Given the description of an element on the screen output the (x, y) to click on. 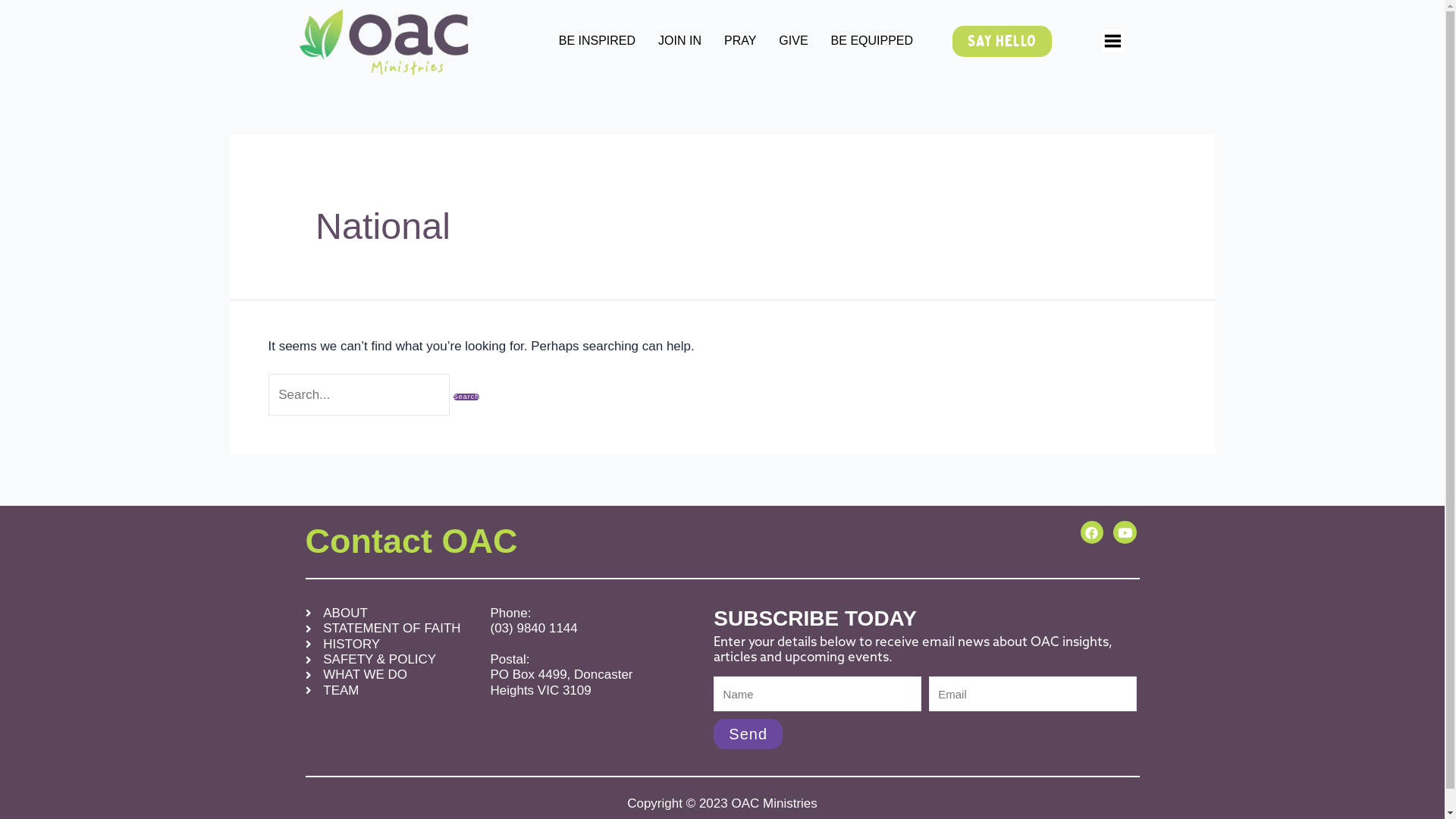
Youtube Element type: text (1124, 532)
ABOUT Element type: text (389, 613)
PRAY Element type: text (739, 40)
GIVE Element type: text (793, 40)
Search Element type: text (466, 396)
BE INSPIRED Element type: text (596, 40)
Facebook Element type: text (1092, 532)
SAFETY & POLICY Element type: text (389, 659)
WHAT WE DO Element type: text (389, 674)
JOIN IN Element type: text (679, 40)
HISTORY Element type: text (389, 644)
TEAM Element type: text (389, 690)
BE EQUIPPED Element type: text (871, 40)
SAY HELLO Element type: text (1001, 40)
Send Element type: text (747, 733)
STATEMENT OF FAITH Element type: text (389, 628)
